Given the description of an element on the screen output the (x, y) to click on. 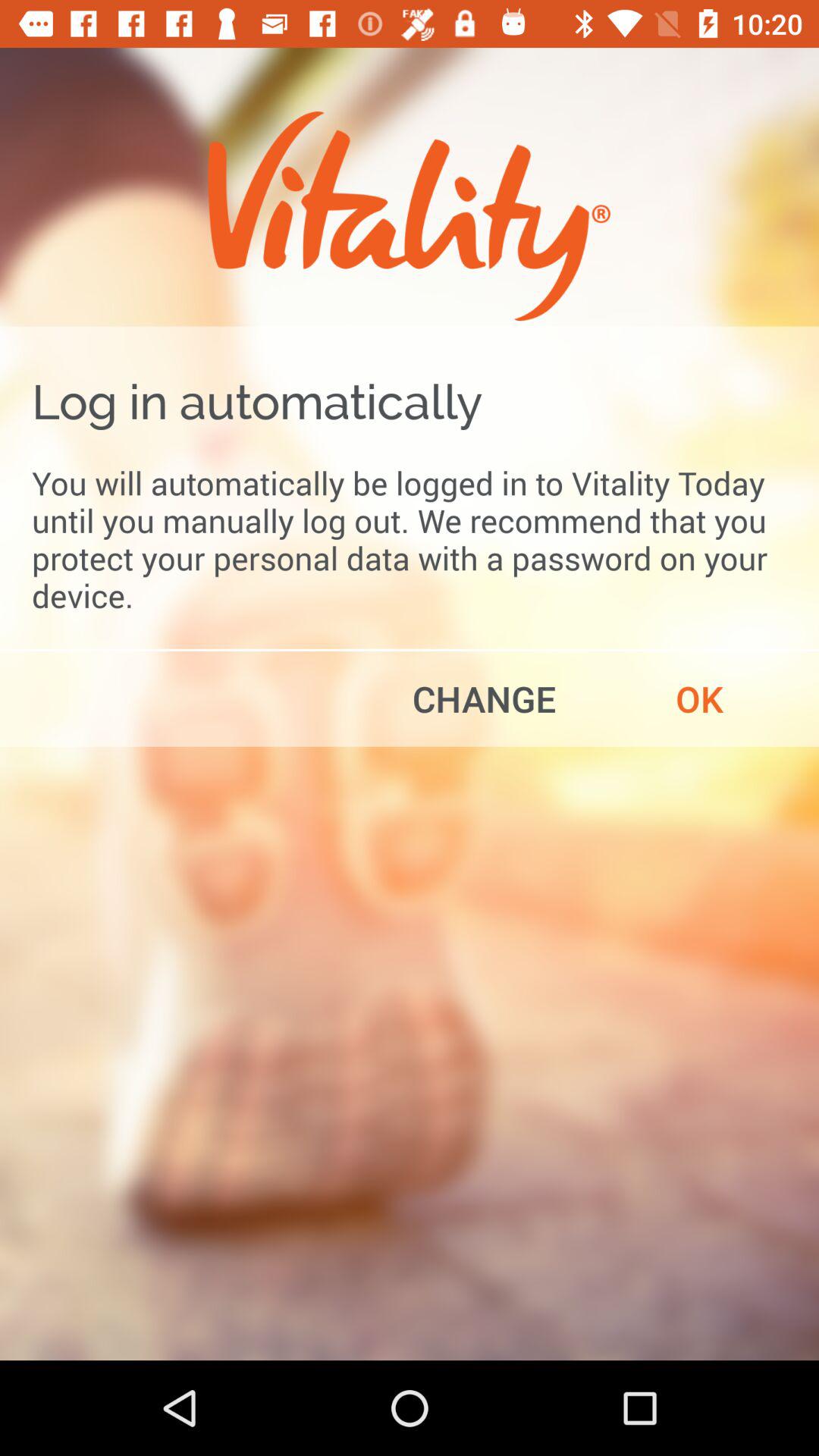
choose the ok item (699, 698)
